Given the description of an element on the screen output the (x, y) to click on. 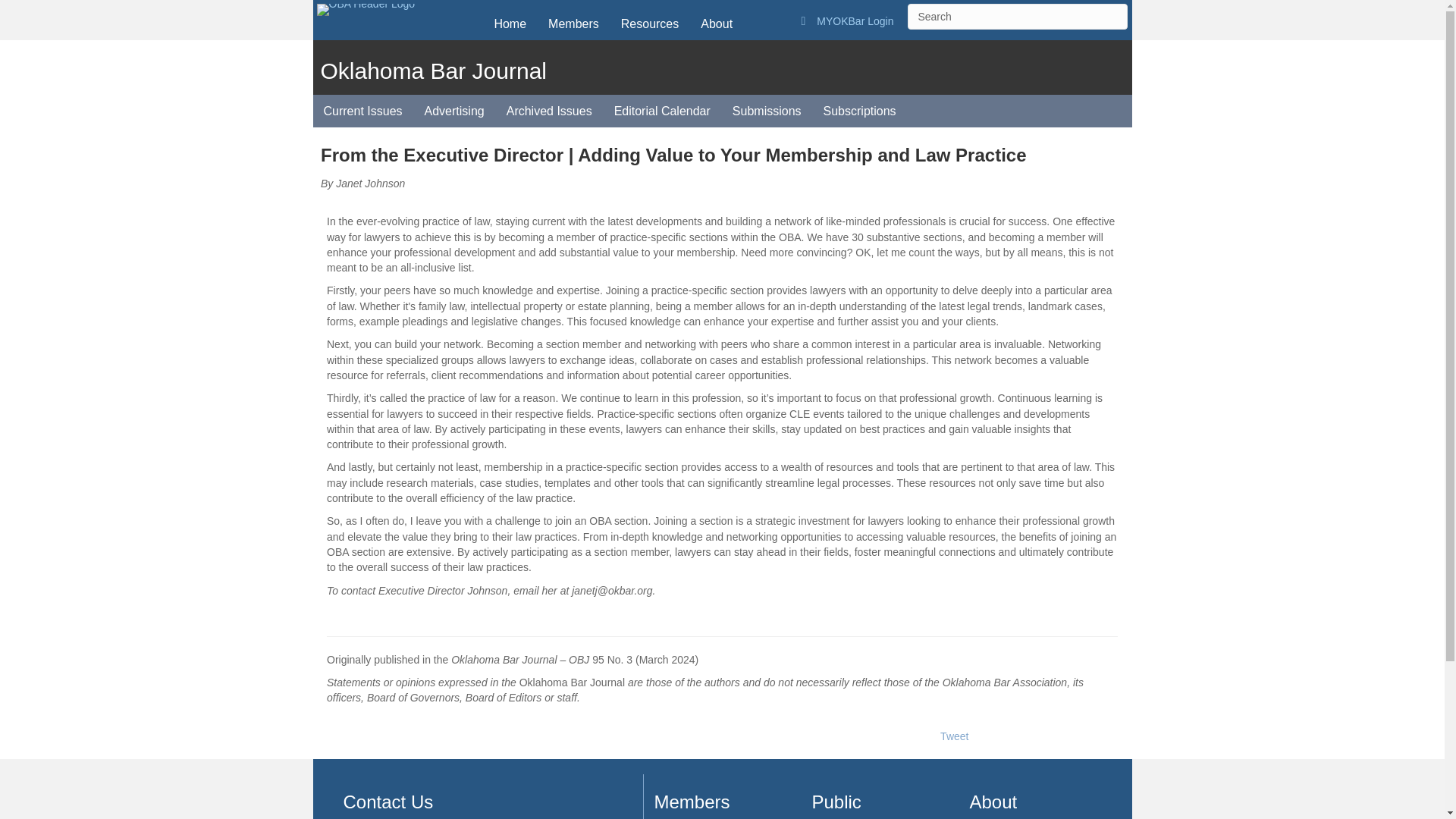
Submissions (767, 111)
Tweet (954, 736)
Home (510, 23)
About (716, 23)
OBA Header Logo (365, 9)
Search (1016, 16)
Editorial Calendar (662, 111)
Current Issues (362, 111)
Advertising (454, 111)
Resources (649, 23)
Type and press Enter to search. (1016, 16)
Archived Issues (549, 111)
Search (1016, 16)
Subscriptions (859, 111)
Members (573, 23)
